Given the description of an element on the screen output the (x, y) to click on. 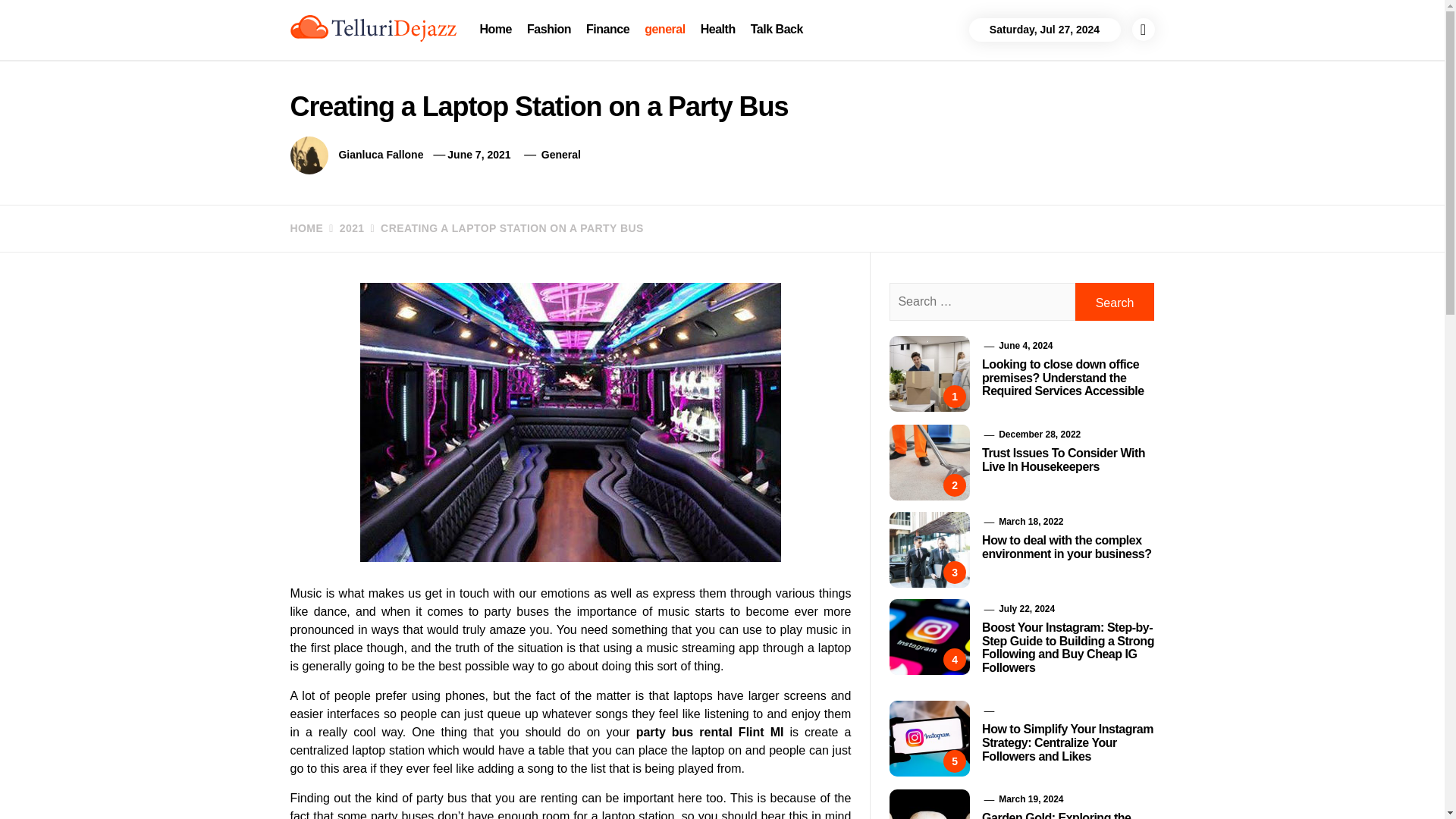
General (560, 154)
Talk Back (776, 29)
Finance (607, 29)
Health (717, 29)
Search (1114, 301)
Home (495, 29)
HOME (306, 227)
Telluri Dejazz (370, 59)
June 7, 2021 (478, 154)
general (665, 29)
CREATING A LAPTOP STATION ON A PARTY BUS (504, 227)
2021 (343, 227)
Search (797, 41)
Gianluca Fallone (380, 154)
Fashion (548, 29)
